Given the description of an element on the screen output the (x, y) to click on. 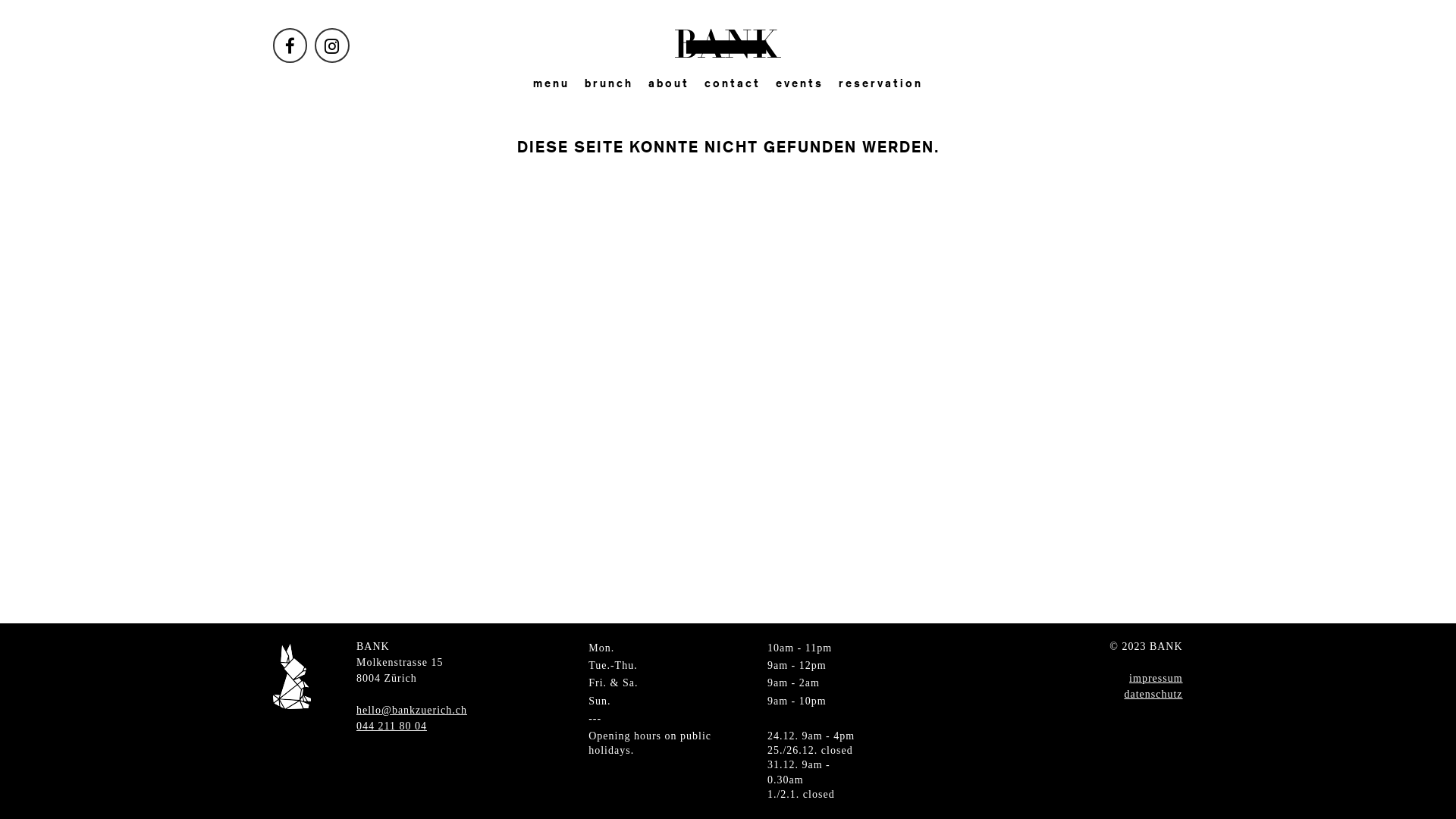
reservation Element type: text (880, 84)
contact Element type: text (732, 84)
impressum Element type: text (1155, 678)
about Element type: text (668, 84)
menu Element type: text (551, 84)
hello@bankzuerich.ch Element type: text (411, 709)
events Element type: text (799, 84)
datenschutz Element type: text (1152, 693)
brunch Element type: text (608, 84)
044 211 80 04 Element type: text (391, 725)
